Given the description of an element on the screen output the (x, y) to click on. 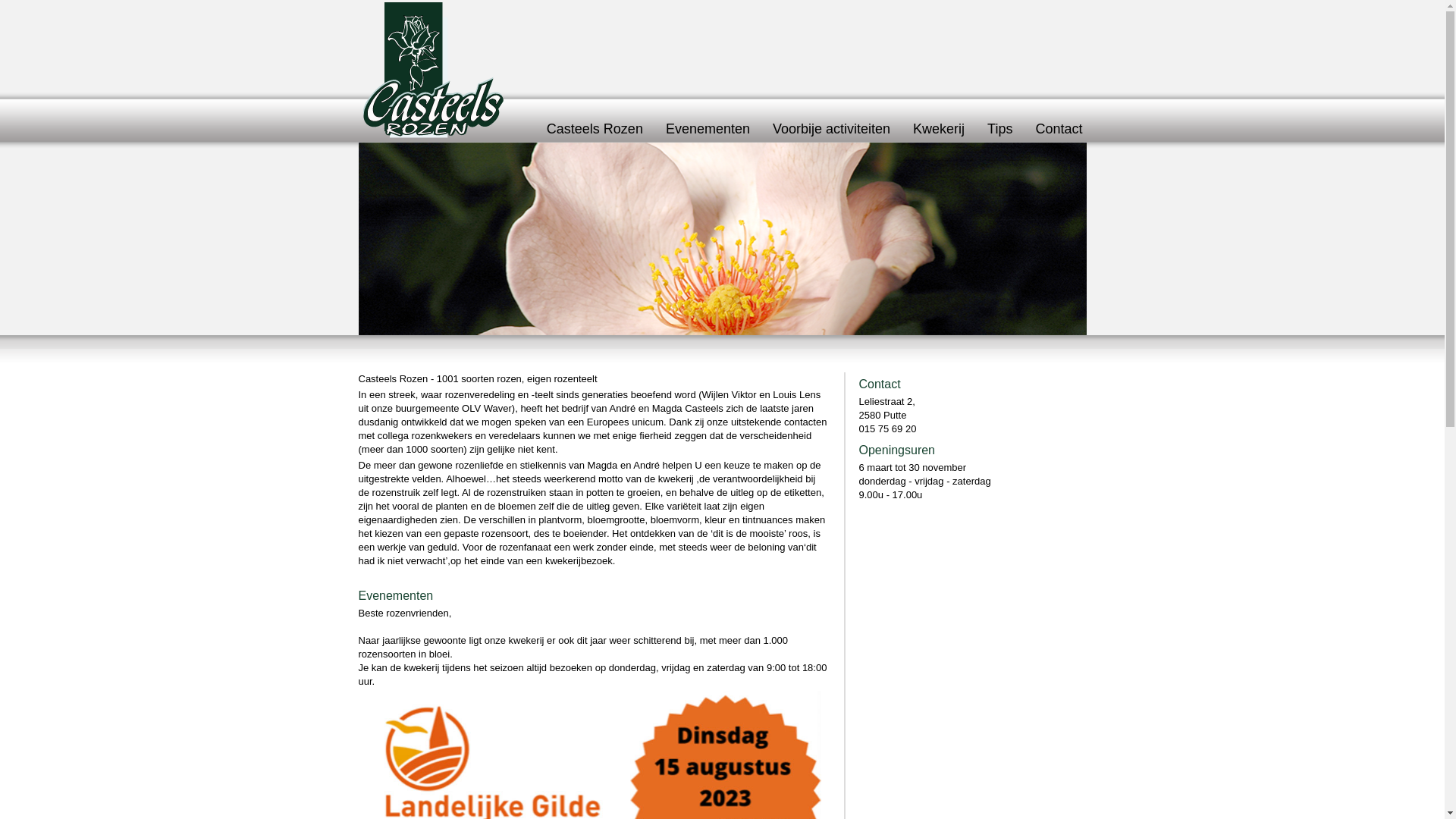
Evenementen Element type: text (707, 128)
Kwekerij Element type: text (938, 128)
Voorbije activiteiten Element type: text (831, 128)
Tips Element type: text (999, 128)
Contact Element type: text (1058, 128)
Casteels Rozen Element type: text (594, 128)
